Given the description of an element on the screen output the (x, y) to click on. 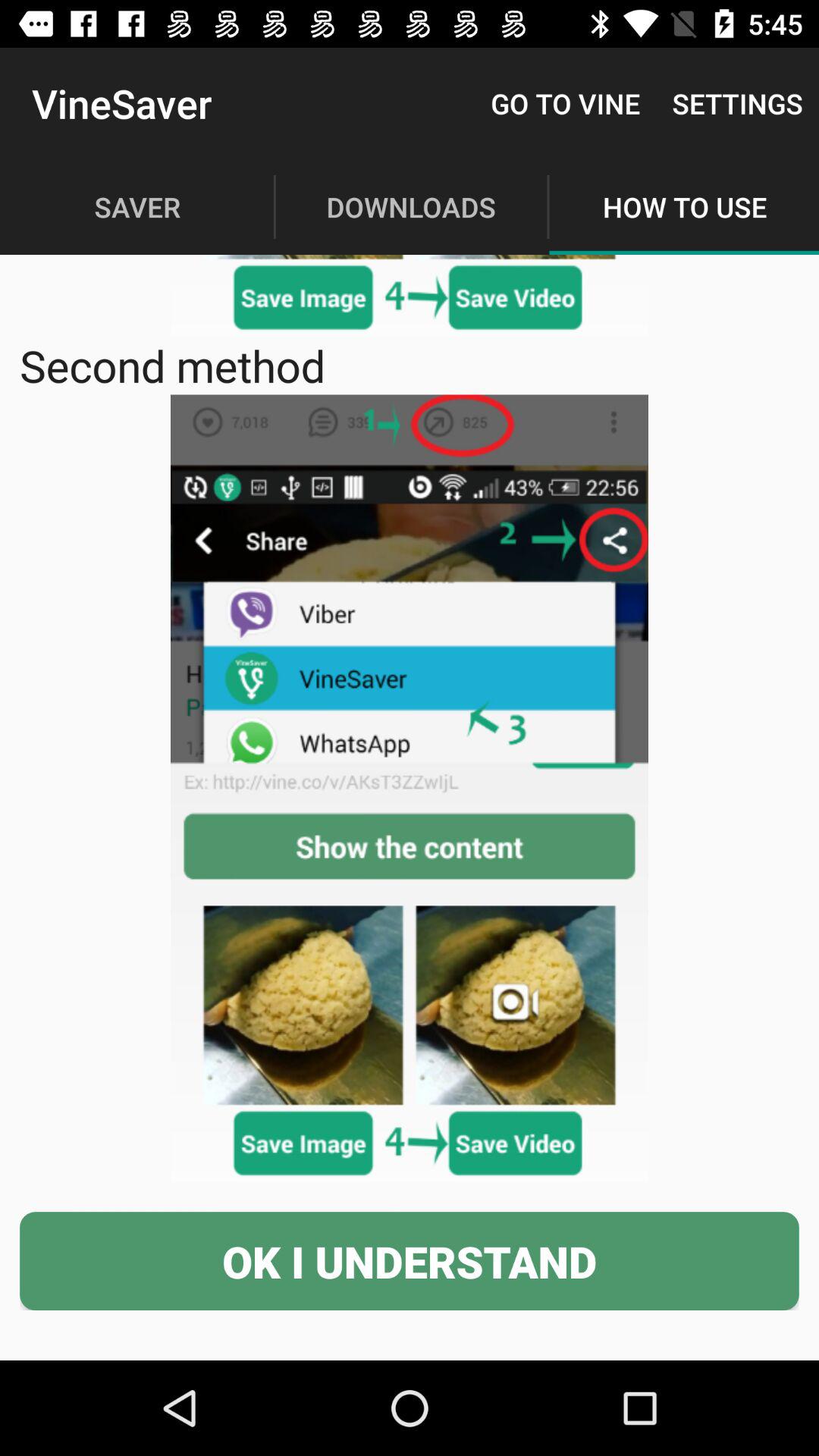
press the ok i understand item (409, 1261)
